Given the description of an element on the screen output the (x, y) to click on. 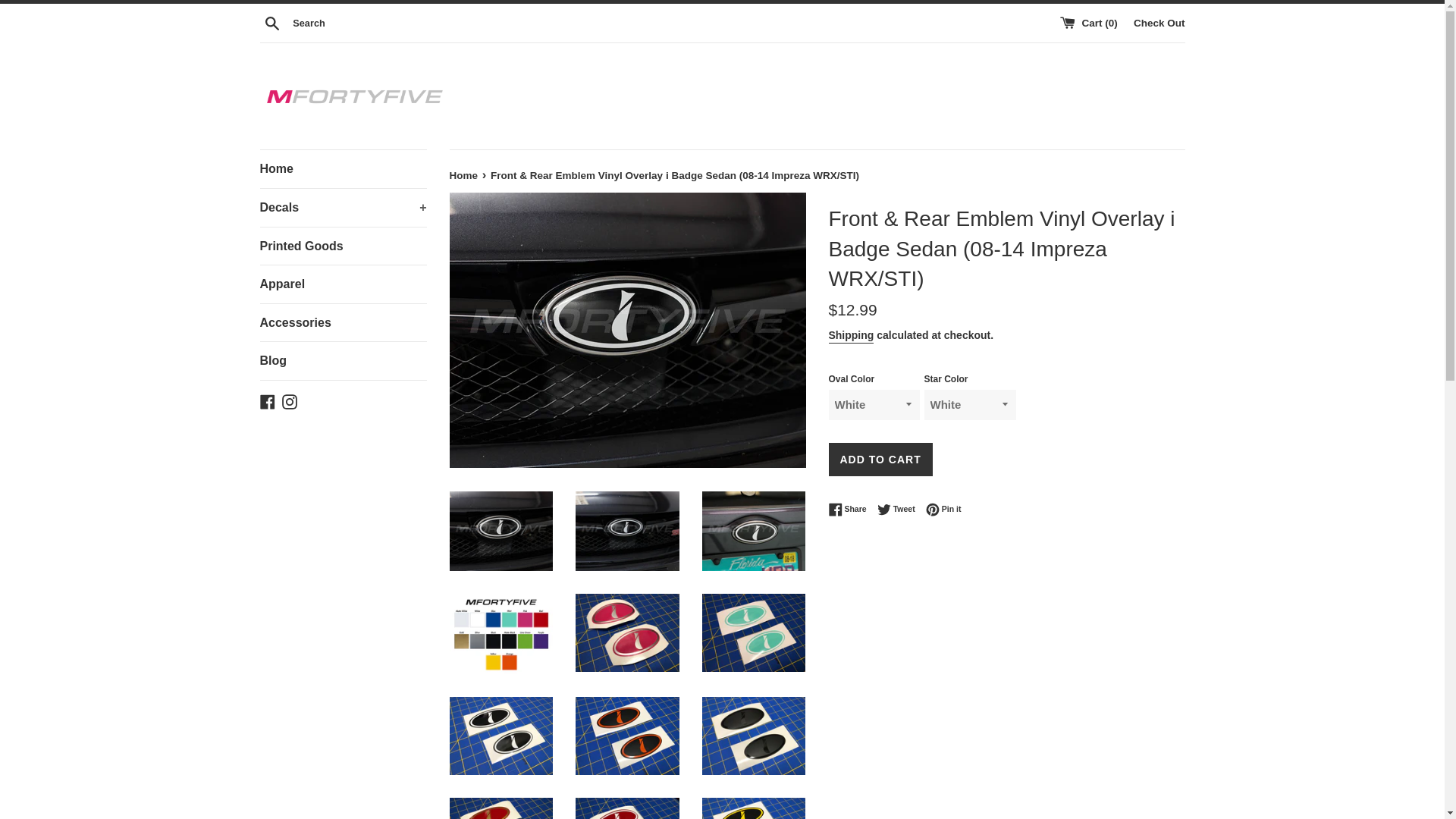
Facebook (267, 400)
MFortyFive  on Facebook (267, 400)
Search (271, 21)
Home (342, 168)
MFortyFive  on Instagram (289, 400)
Back to the frontpage (464, 174)
Share on Facebook (850, 509)
Instagram (289, 400)
Blog (342, 361)
Accessories (342, 322)
Pin on Pinterest (943, 509)
Home (464, 174)
Check Out (1159, 21)
Printed Goods (342, 246)
Apparel (342, 284)
